Given the description of an element on the screen output the (x, y) to click on. 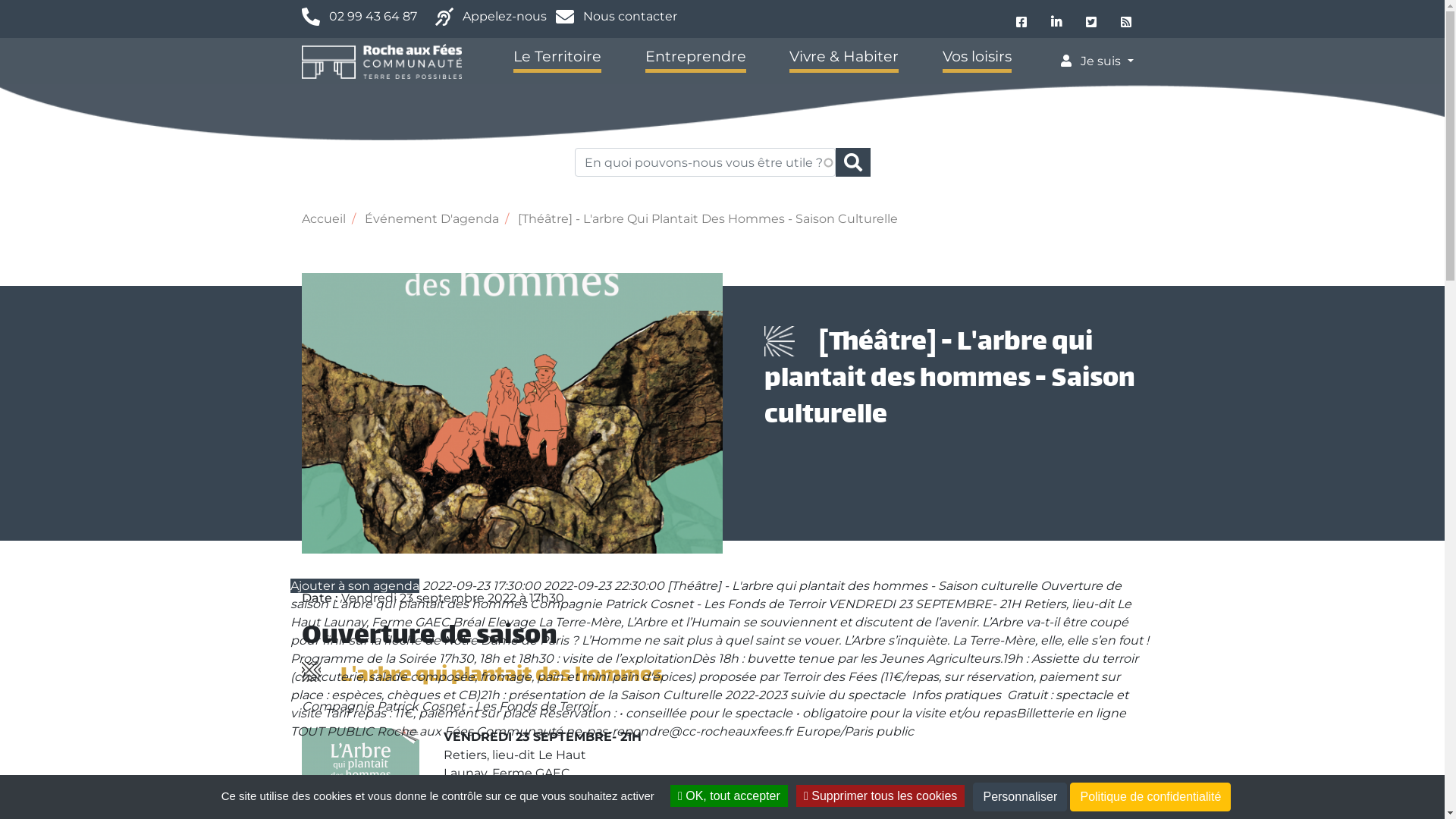
Nous contacter Element type: text (629, 16)
Supprimer tous les cookies Element type: text (880, 795)
OK, tout accepter Element type: text (728, 795)
Rechercher Element type: text (852, 161)
Accueil Element type: text (323, 218)
Personnaliser Element type: text (1019, 796)
Aller au contenu principal Element type: text (721, 1)
Accueil Element type: hover (381, 61)
Appelez-nous    Element type: text (508, 16)
02 99 43 64 87 Element type: text (373, 16)
Je suis Element type: text (1096, 61)
